Given the description of an element on the screen output the (x, y) to click on. 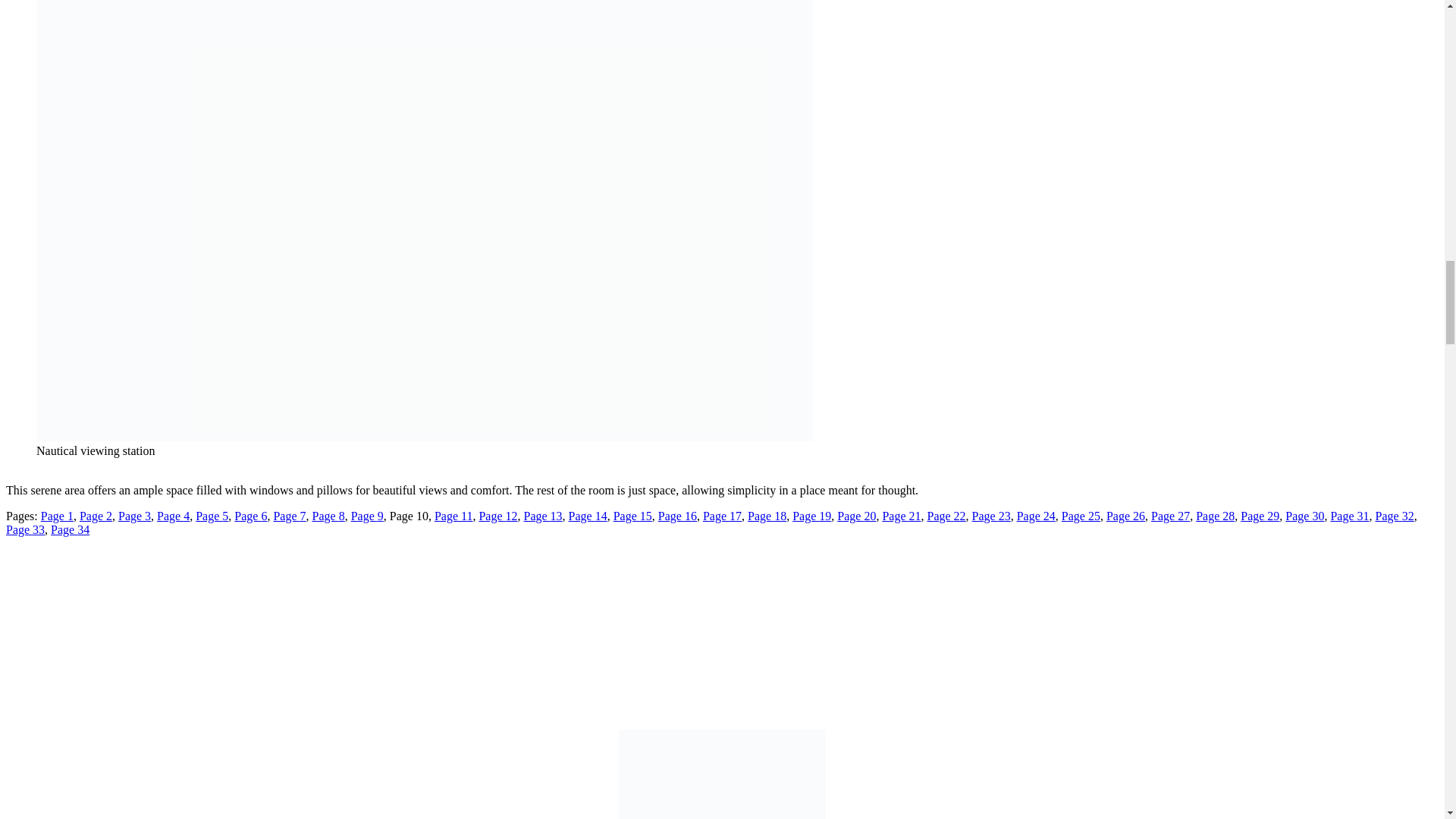
Page 12 (497, 515)
Page 20 (856, 515)
Page 16 (677, 515)
Page 13 (542, 515)
Page 17 (722, 515)
Page 7 (289, 515)
Page 3 (134, 515)
Page 23 (991, 515)
Page 11 (453, 515)
Page 2 (96, 515)
